Given the description of an element on the screen output the (x, y) to click on. 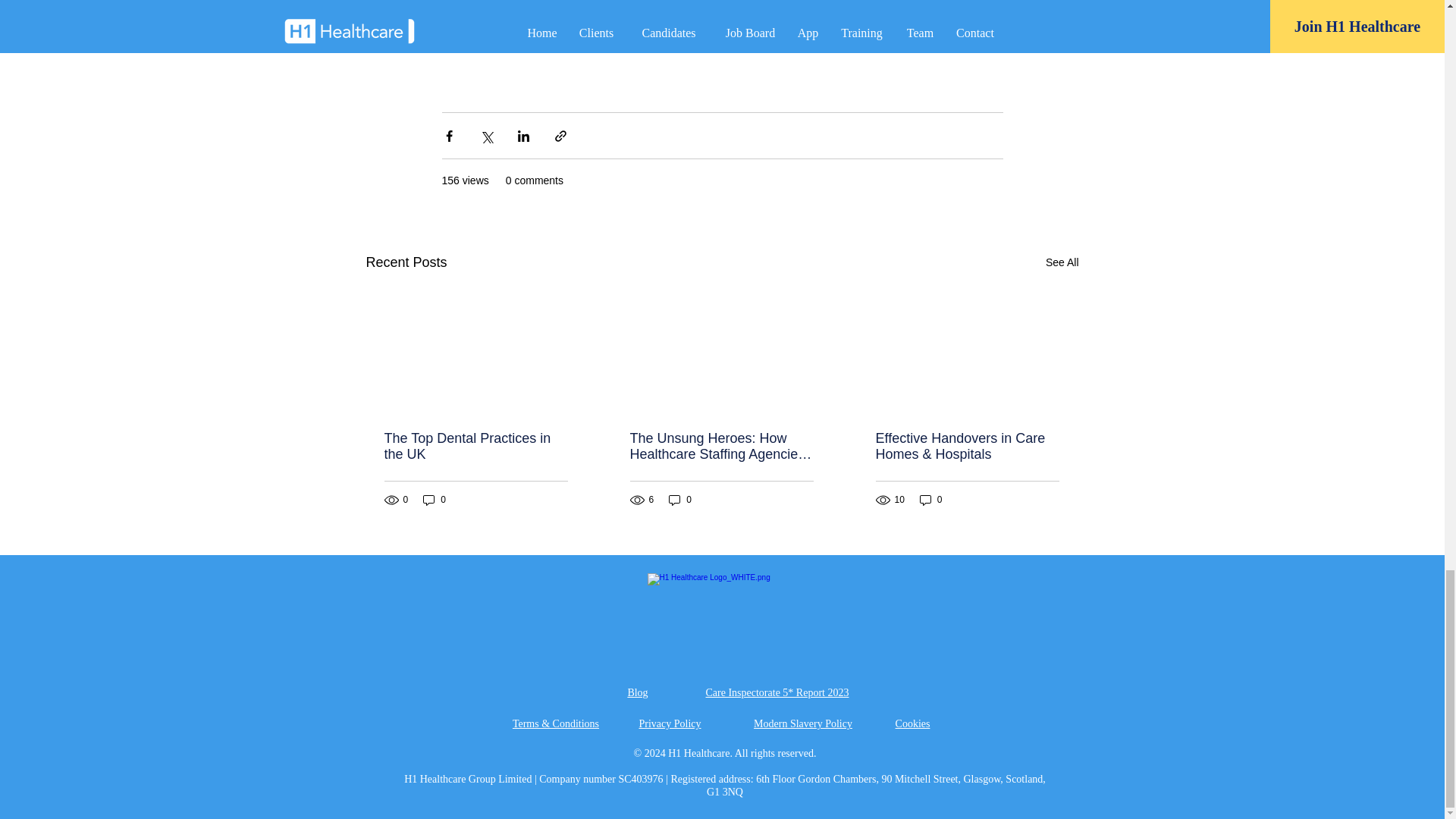
See All (1061, 262)
0 (930, 499)
joining page (514, 29)
0 (434, 499)
0 (679, 499)
The Top Dental Practices in the UK (475, 446)
